Given the description of an element on the screen output the (x, y) to click on. 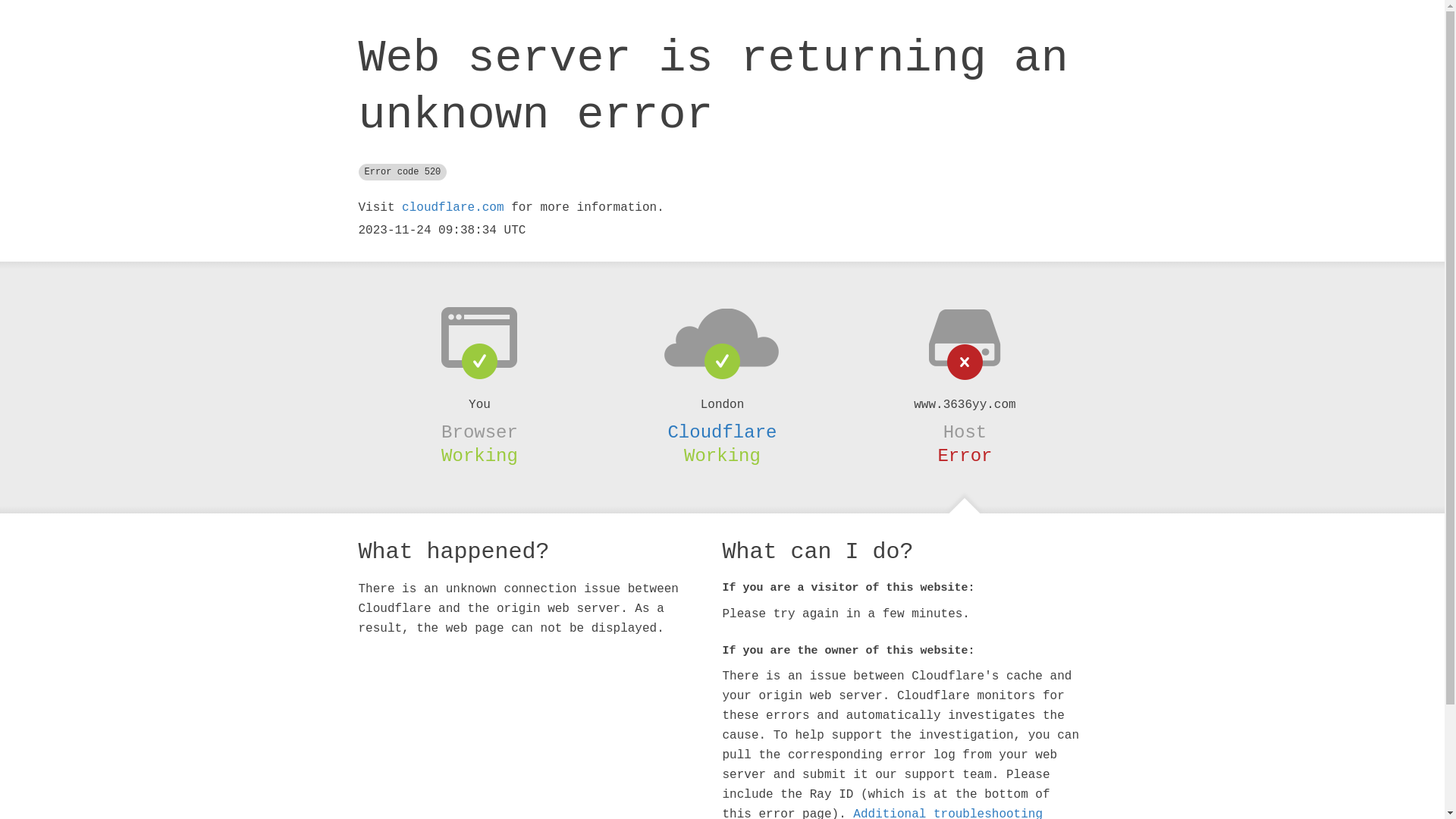
cloudflare.com Element type: text (452, 207)
Cloudflare Element type: text (721, 432)
